Given the description of an element on the screen output the (x, y) to click on. 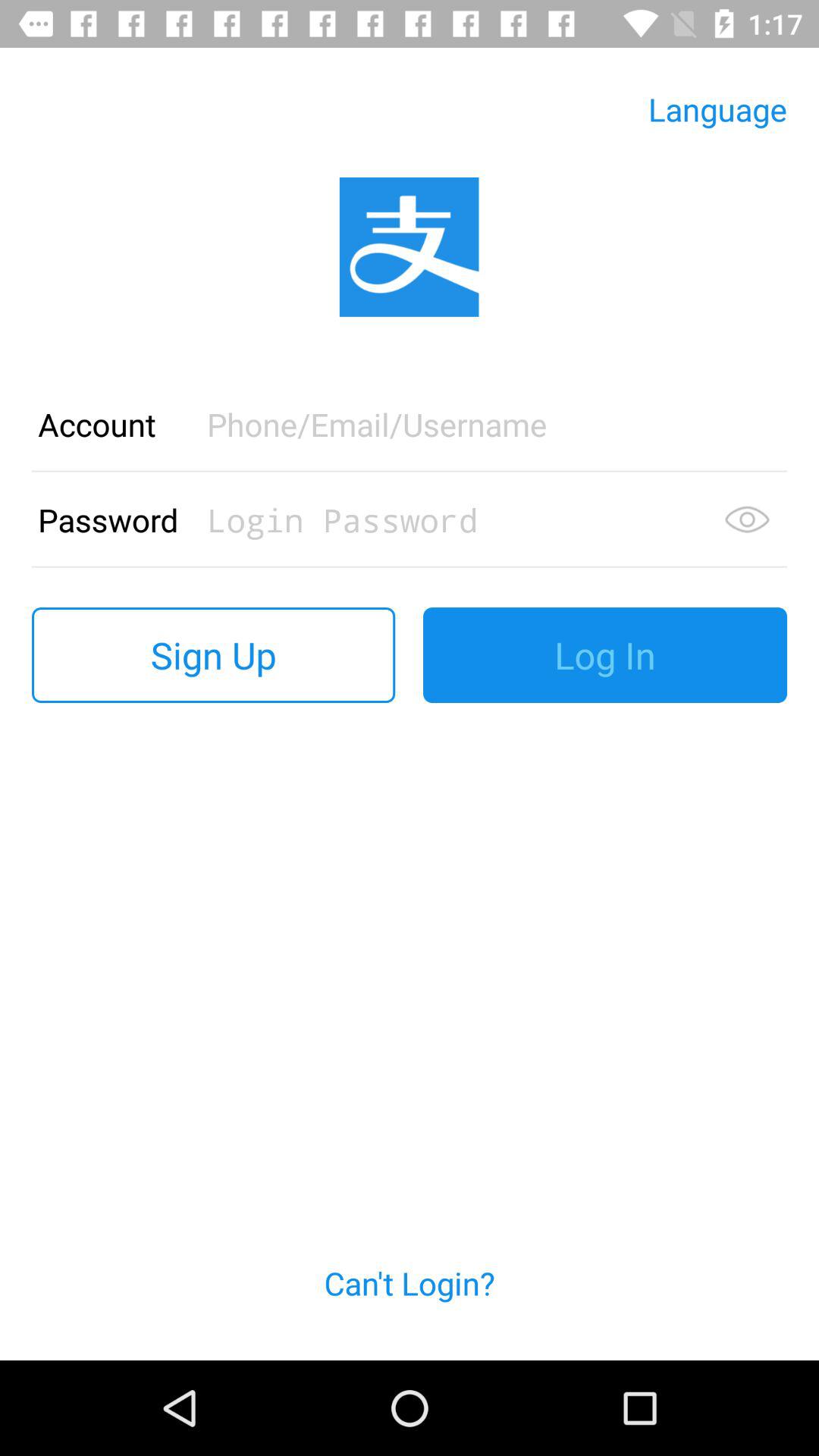
launch icon above the can't login? (605, 654)
